Given the description of an element on the screen output the (x, y) to click on. 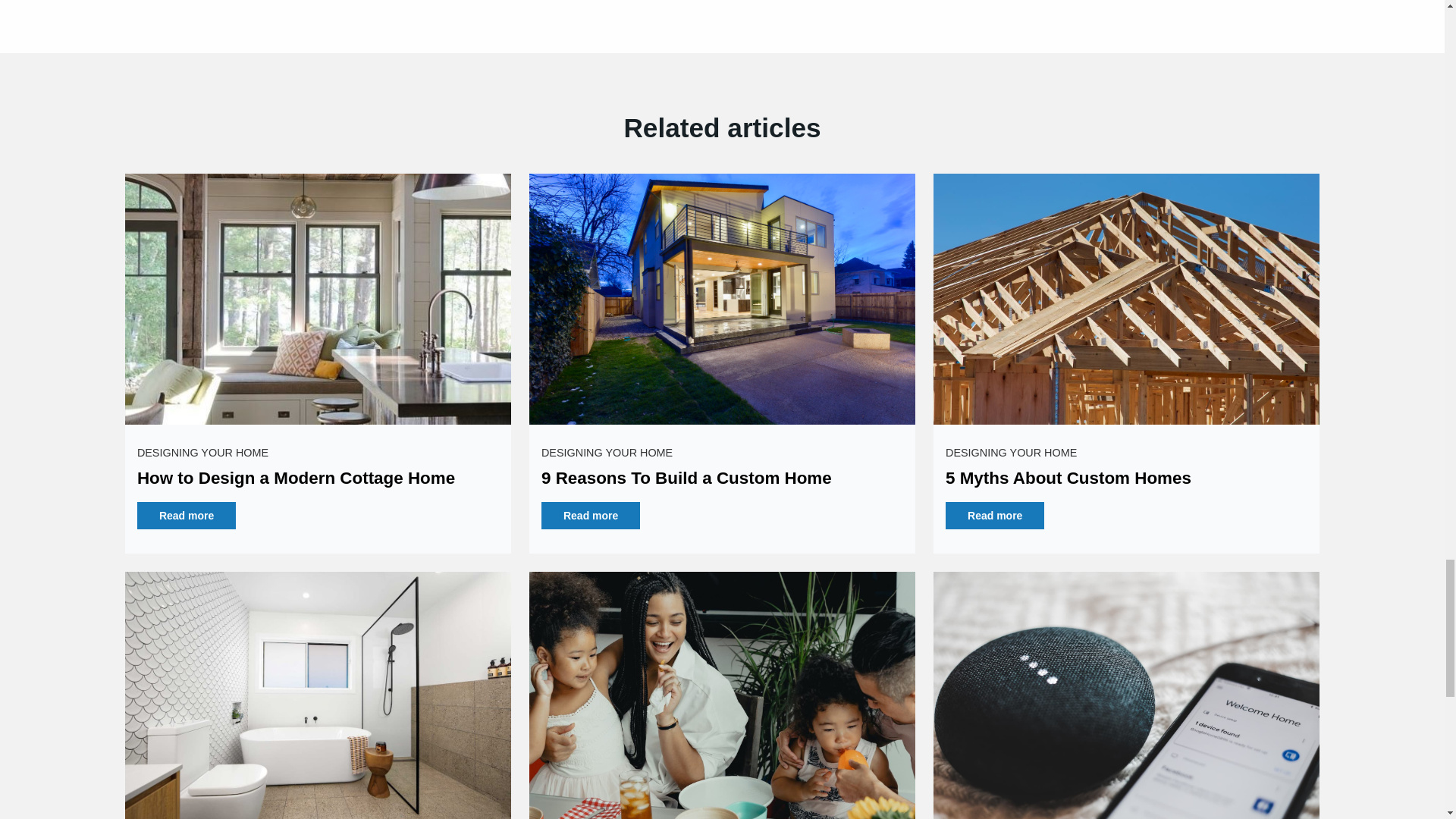
Read more (590, 515)
DESIGNING YOUR HOME (1010, 452)
Read more (185, 515)
DESIGNING YOUR HOME (606, 452)
5 Myths About Custom Homes (1067, 477)
How to Design a Modern Cottage Home (295, 477)
9 Reasons To Build a Custom Home (686, 477)
DESIGNING YOUR HOME (201, 452)
